Given the description of an element on the screen output the (x, y) to click on. 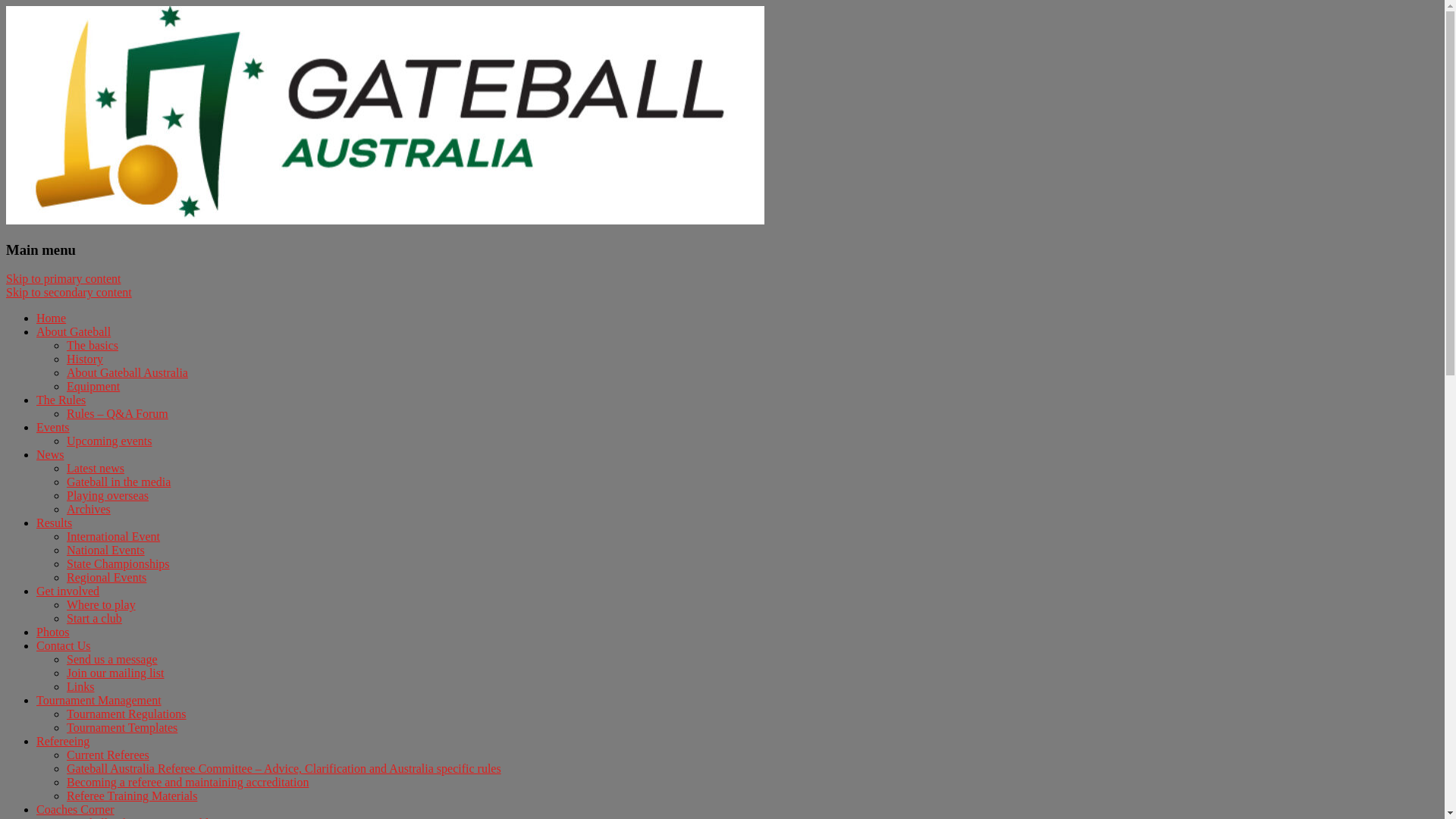
Links Element type: text (80, 686)
Current Referees Element type: text (107, 754)
Equipment Element type: text (92, 385)
Events Element type: text (52, 426)
Contact Us Element type: text (63, 645)
Where to play Element type: text (100, 604)
Tournament Regulations Element type: text (126, 713)
National Events Element type: text (105, 549)
History Element type: text (84, 358)
Regional Events Element type: text (106, 577)
Upcoming events Element type: text (108, 440)
About Gateball Australia Element type: text (127, 372)
Tournament Templates Element type: text (121, 727)
Becoming a referee and maintaining accreditation Element type: text (187, 781)
Start a club Element type: text (94, 617)
State Championships Element type: text (117, 563)
Archives Element type: text (88, 508)
Skip to secondary content Element type: text (68, 291)
gateball.com.au Element type: text (87, 35)
Results Element type: text (54, 522)
Gateball in the media Element type: text (118, 481)
Referee Training Materials Element type: text (131, 795)
International Event Element type: text (113, 536)
Photos Element type: text (52, 631)
Latest news Element type: text (95, 467)
Playing overseas Element type: text (107, 495)
Refereeing Element type: text (62, 740)
Join our mailing list Element type: text (114, 672)
The Rules Element type: text (60, 399)
News Element type: text (49, 454)
The basics Element type: text (92, 344)
Skip to primary content Element type: text (63, 278)
Get involved Element type: text (67, 590)
Tournament Management Element type: text (98, 699)
Send us a message Element type: text (111, 658)
Coaches Corner Element type: text (75, 809)
About Gateball Element type: text (73, 331)
Home Element type: text (50, 317)
